Given the description of an element on the screen output the (x, y) to click on. 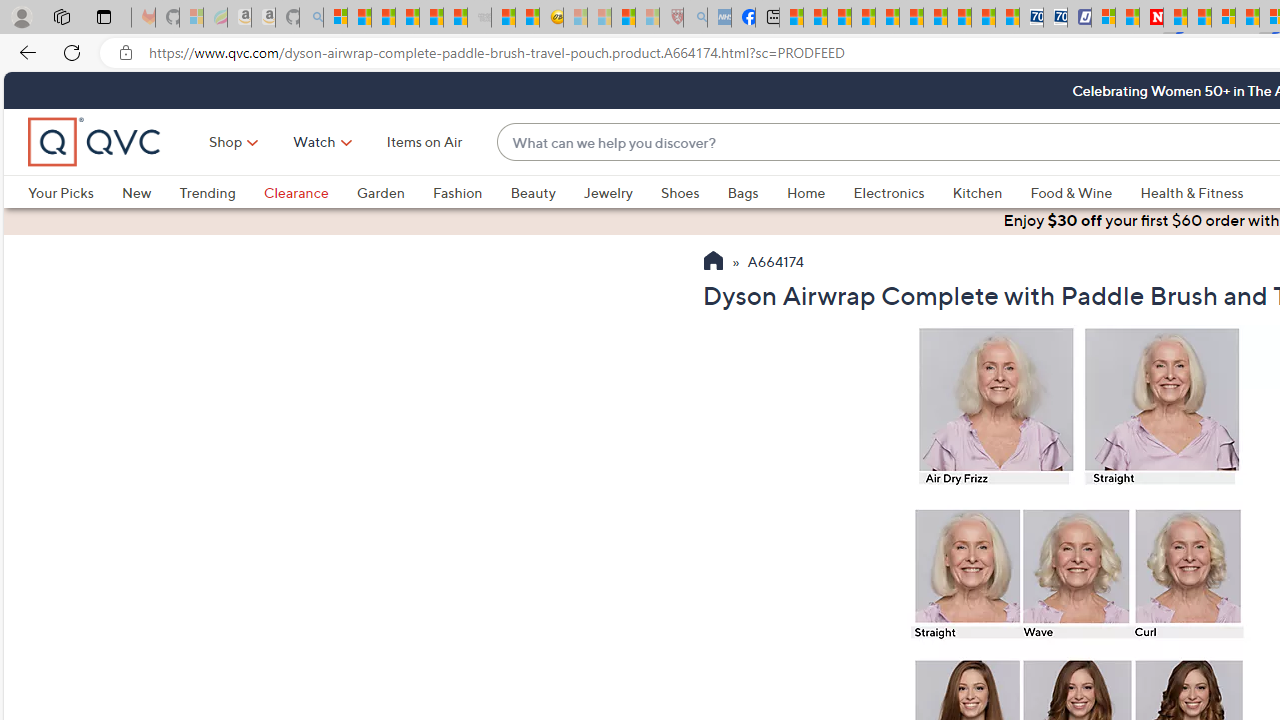
Beauty (546, 192)
Food & Wine (1071, 192)
Garden (379, 192)
Health & Fitness (1192, 192)
Clearance (309, 192)
Bags (757, 192)
Combat Siege - Sleeping (479, 17)
Shoes (694, 192)
Clearance (295, 192)
